Given the description of an element on the screen output the (x, y) to click on. 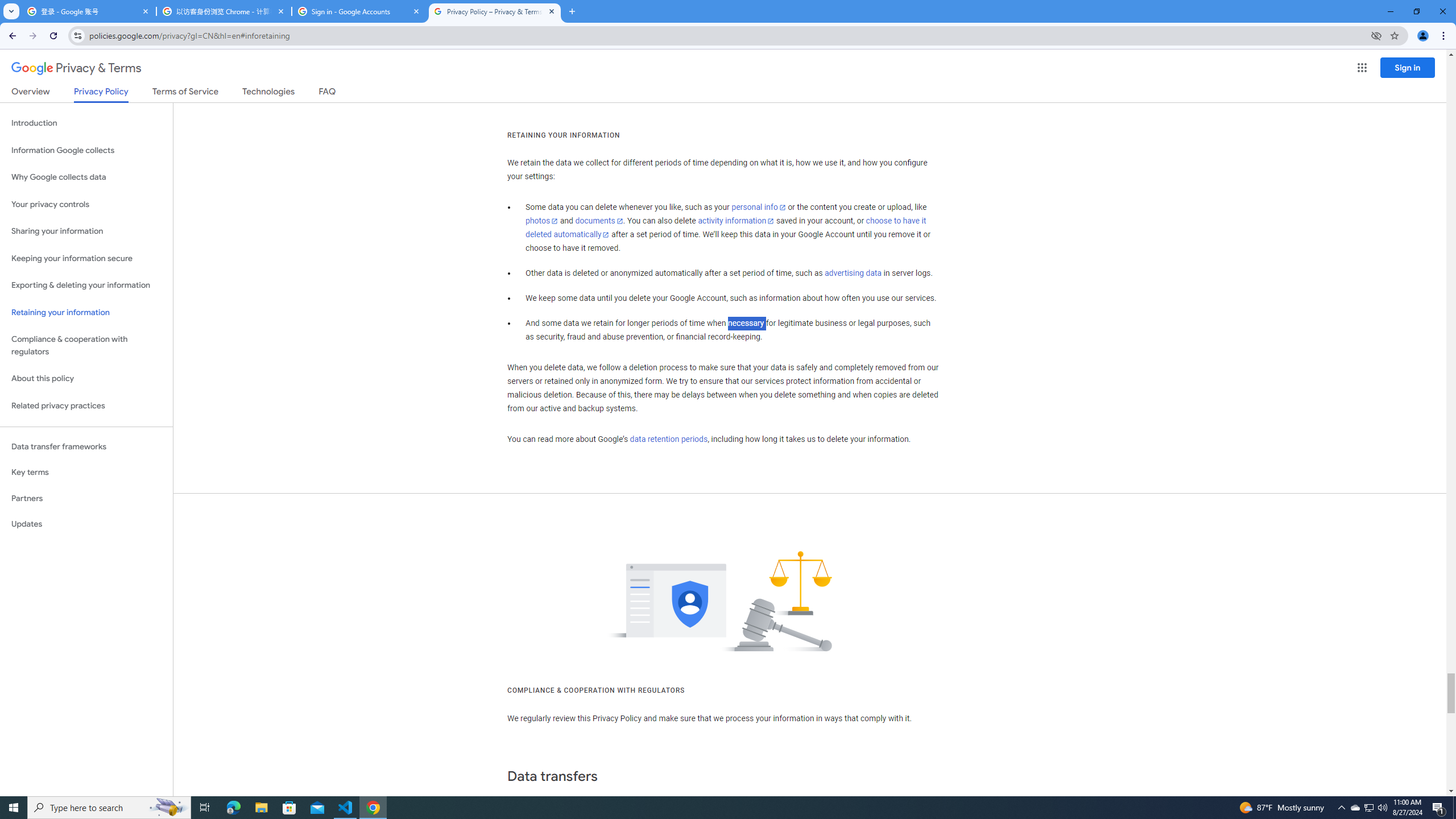
activity information (735, 221)
data retention periods (667, 439)
Exporting & deleting your information (86, 284)
personal info (758, 207)
Sharing your information (86, 230)
documents (599, 221)
